Given the description of an element on the screen output the (x, y) to click on. 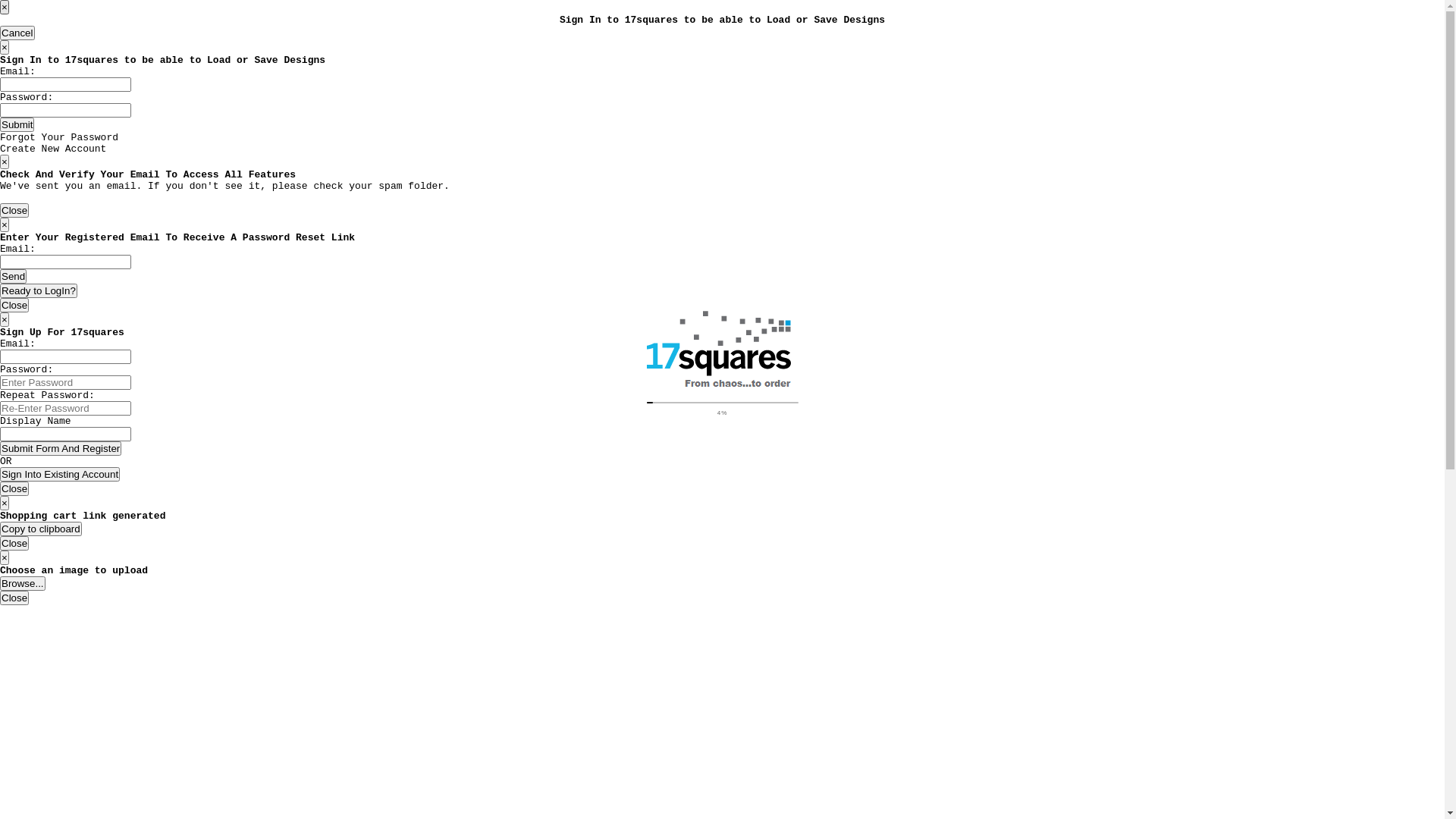
Close Element type: text (14, 597)
Create New Account Element type: text (53, 148)
Ready to LogIn? Element type: text (38, 290)
Browse... Element type: text (22, 583)
Close Element type: text (14, 543)
Close Element type: text (14, 305)
Submit Element type: text (17, 124)
Submit Form And Register Element type: text (60, 448)
Close Element type: text (14, 488)
Forgot Your Password Element type: text (59, 137)
Close Element type: text (14, 210)
Send Element type: text (13, 276)
Cancel Element type: text (17, 32)
Copy to clipboard Element type: text (40, 528)
Sign Into Existing Account Element type: text (59, 474)
